Given the description of an element on the screen output the (x, y) to click on. 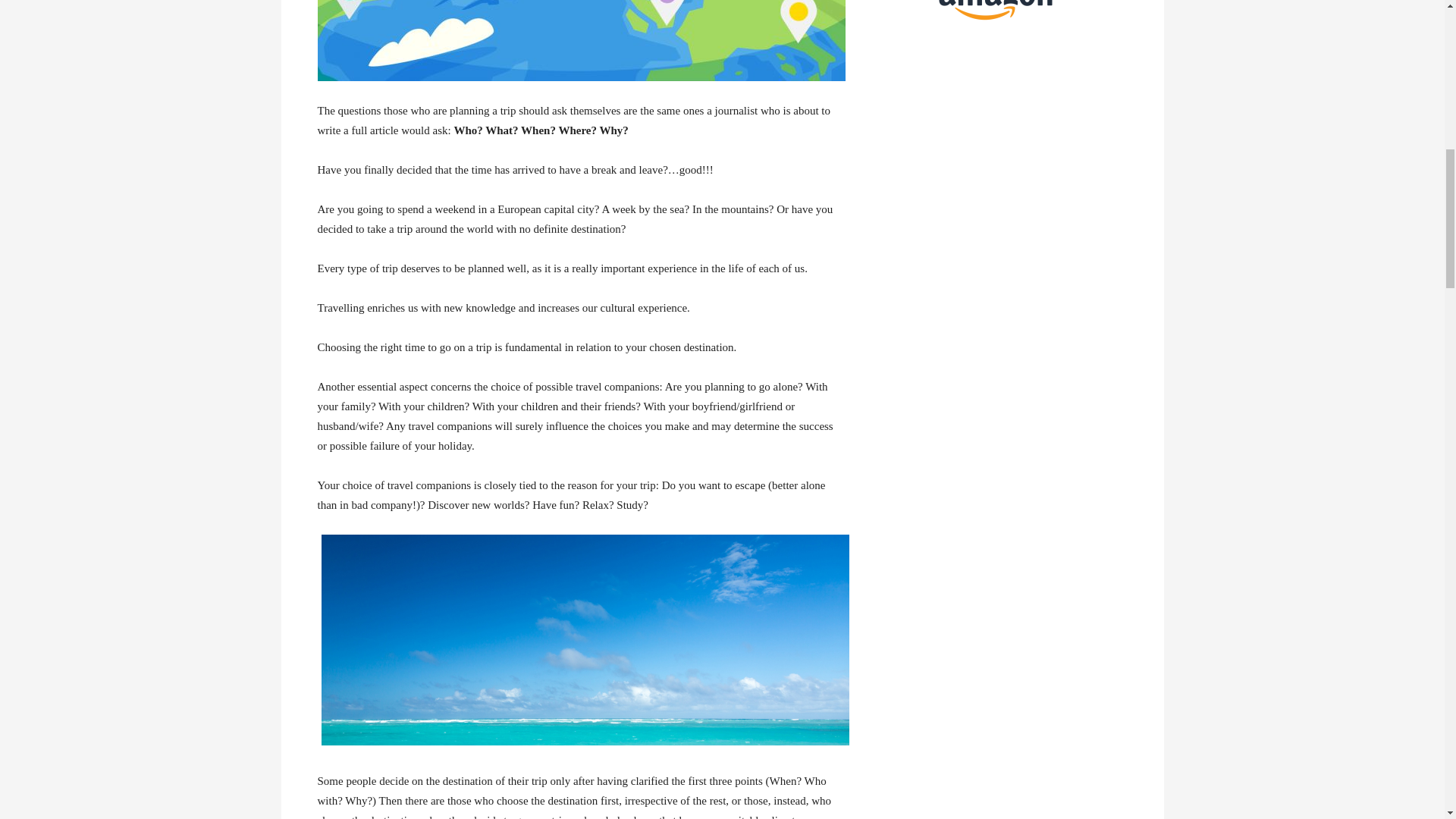
come-fare-valigia-perfetta (580, 40)
